Given the description of an element on the screen output the (x, y) to click on. 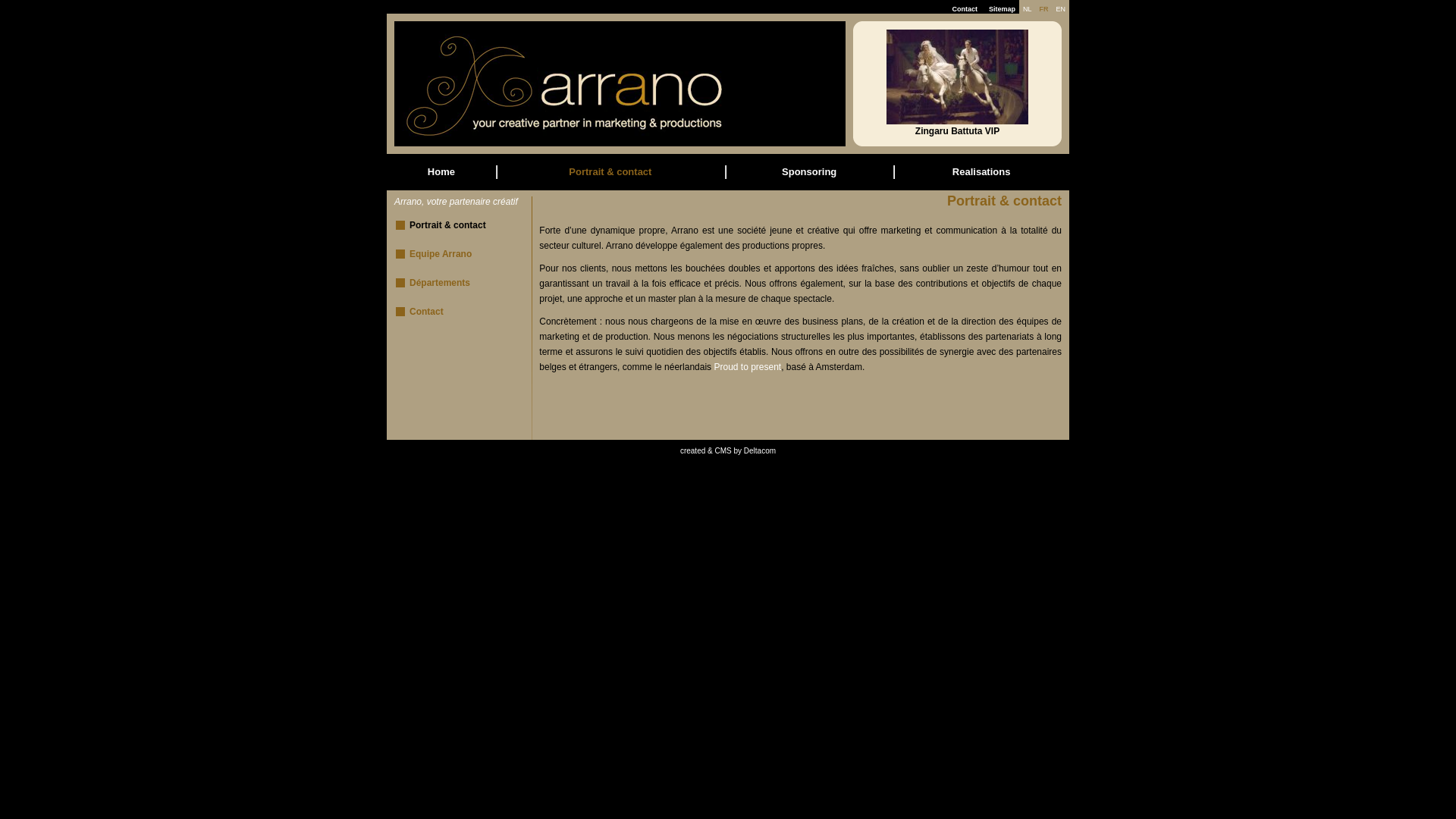
Proud to present Element type: text (747, 366)
Zingaru Battuta VIP Element type: text (957, 127)
EN Element type: text (1060, 8)
Sponsoring Element type: text (808, 171)
Realisations Element type: text (981, 171)
Portrait & contact Element type: text (447, 224)
created & CMS by Deltacom Element type: text (727, 450)
Contact Element type: text (964, 8)
Home Element type: text (441, 171)
Portrait & contact Element type: text (609, 171)
Equipe Arrano Element type: text (440, 253)
Sitemap Element type: text (1001, 8)
NL Element type: text (1027, 8)
Contact Element type: text (426, 311)
FR Element type: text (1043, 8)
